Given the description of an element on the screen output the (x, y) to click on. 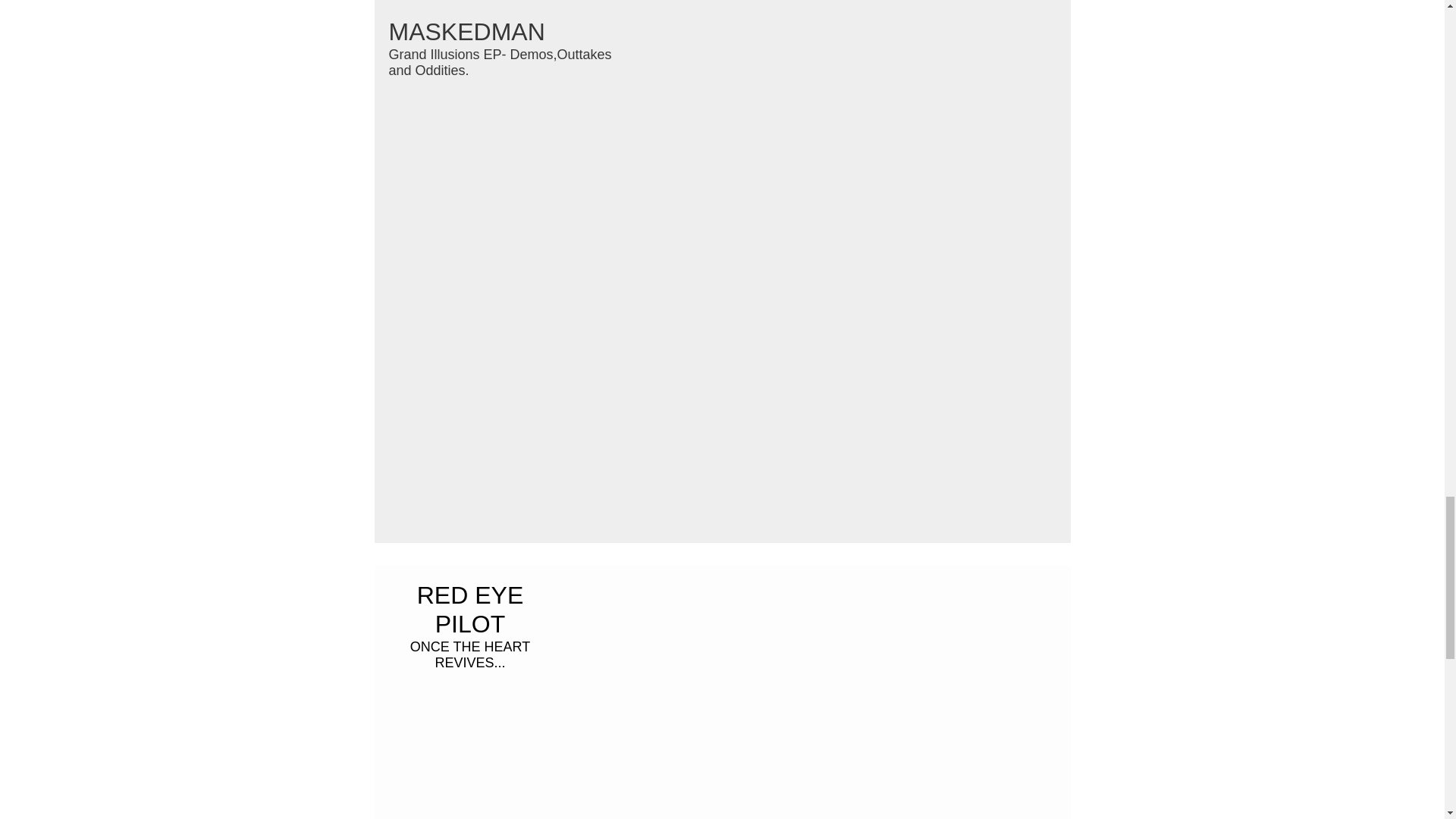
ONCE THE HEART REVIVES... (469, 654)
RED EYE PILOT (469, 609)
